Given the description of an element on the screen output the (x, y) to click on. 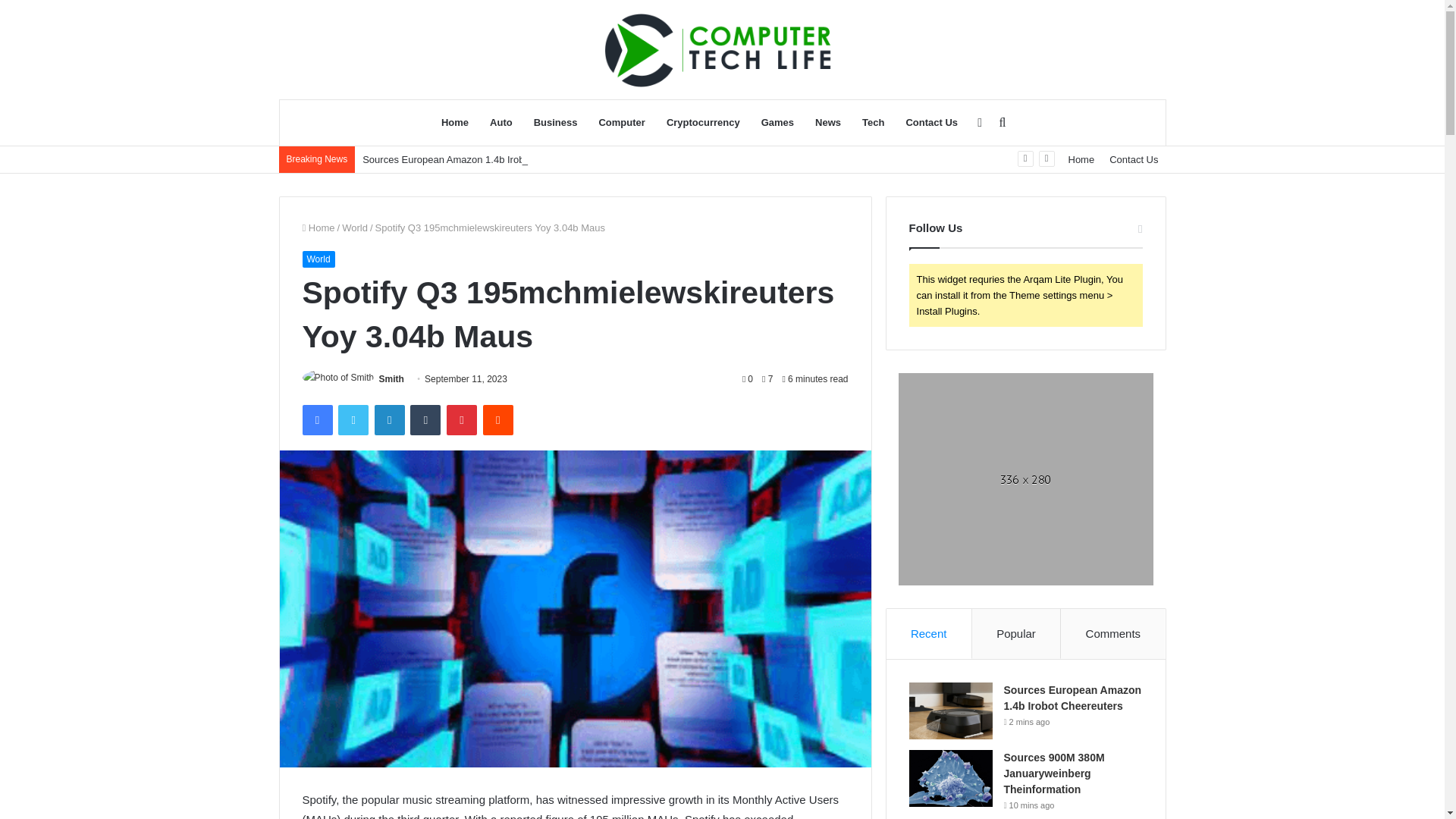
Games (778, 122)
Facebook (316, 419)
Tech (873, 122)
Business (555, 122)
Pinterest (461, 419)
World (355, 227)
Pinterest (461, 419)
Auto (500, 122)
Home (317, 227)
Twitter (352, 419)
